Given the description of an element on the screen output the (x, y) to click on. 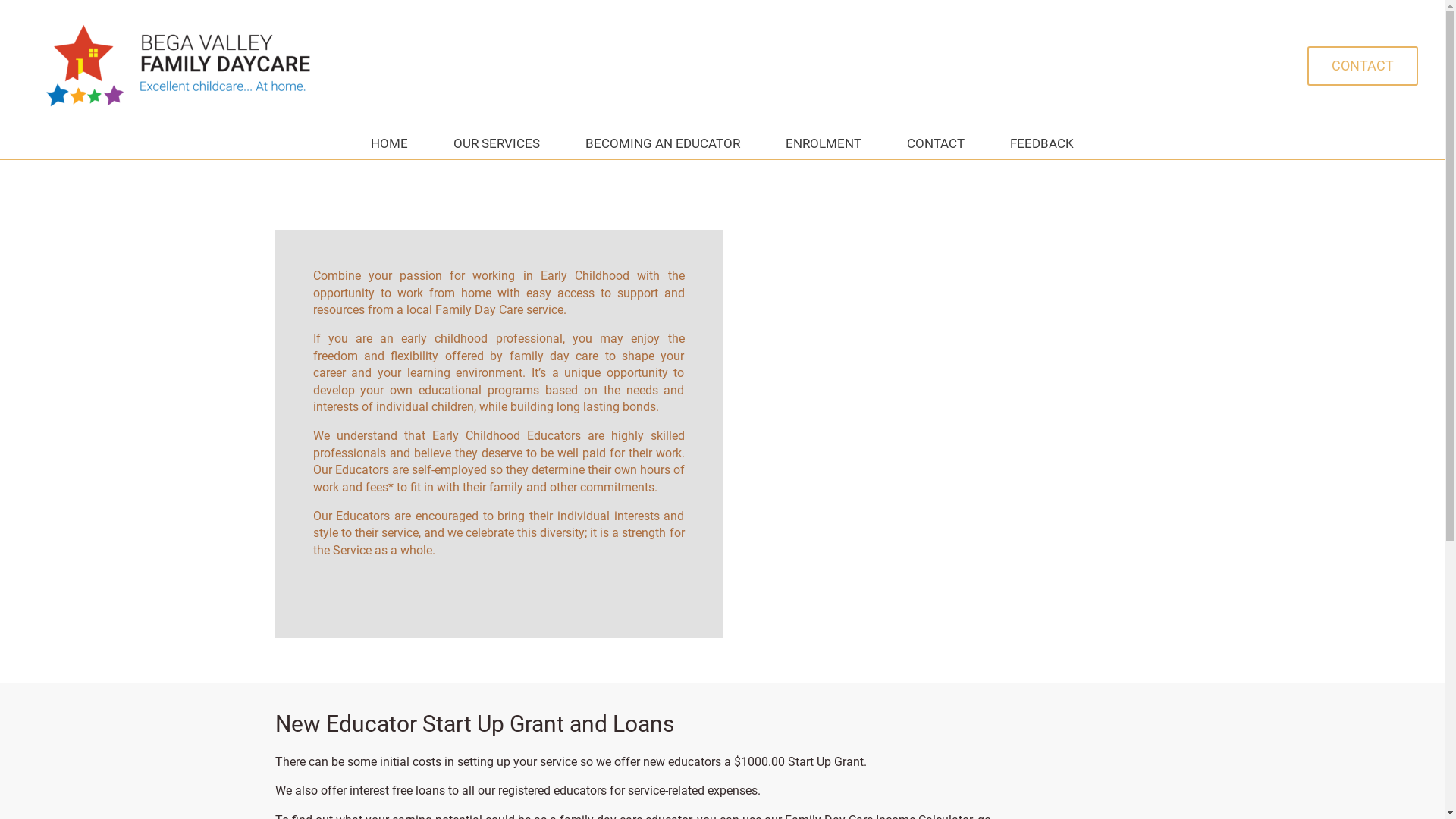
CONTACT Element type: text (1362, 64)
HOME Element type: text (389, 142)
BECOMING AN EDUCATOR Element type: text (662, 142)
OUR SERVICES Element type: text (496, 142)
CONTACT Element type: text (935, 142)
ENROLMENT Element type: text (823, 142)
FEEDBACK Element type: text (1041, 142)
